Given the description of an element on the screen output the (x, y) to click on. 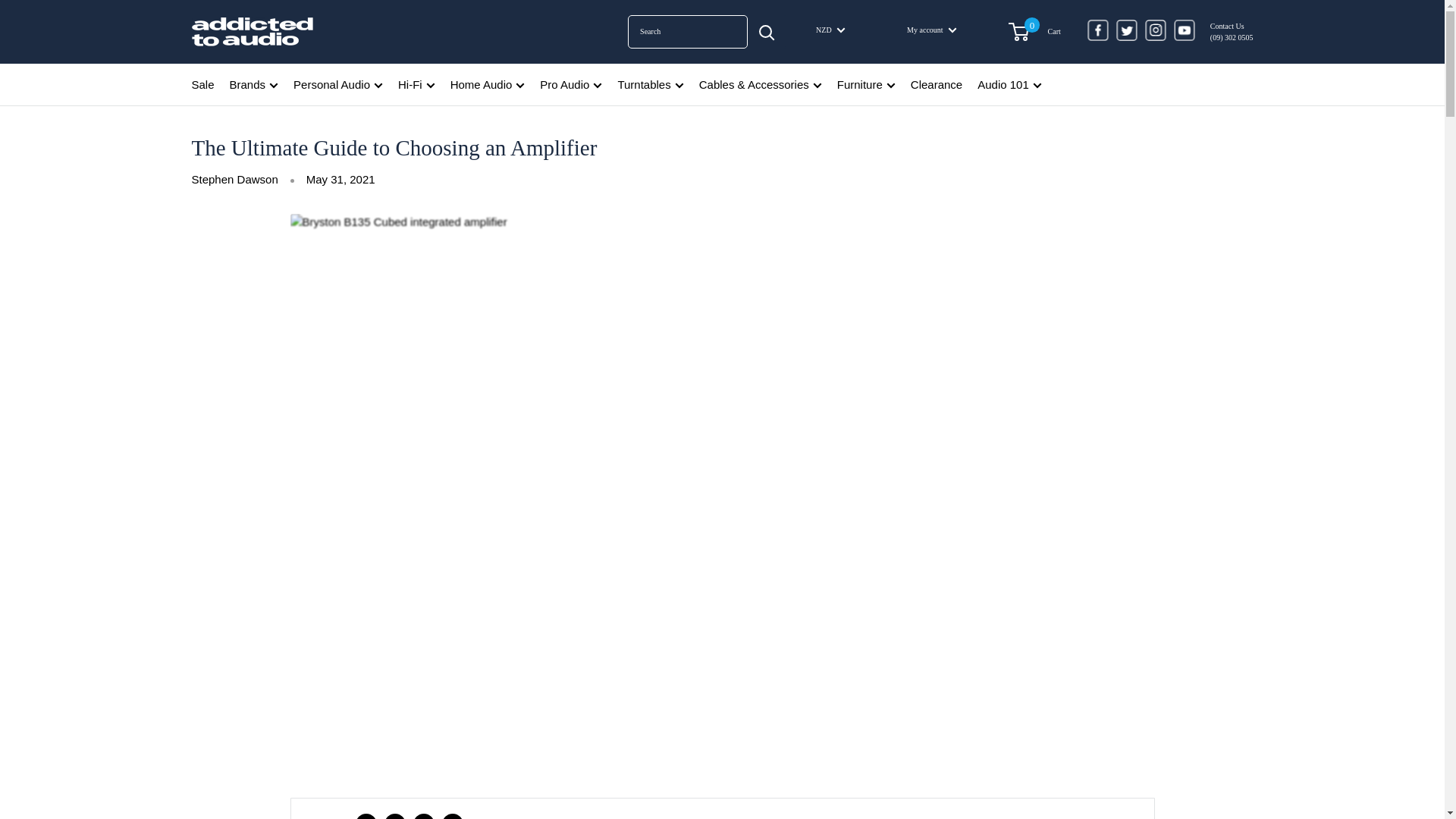
Facebook Created with Sketch. (1097, 29)
Twitter Created with Sketch. (1126, 29)
Instagram Created with Sketch. (1155, 29)
